Given the description of an element on the screen output the (x, y) to click on. 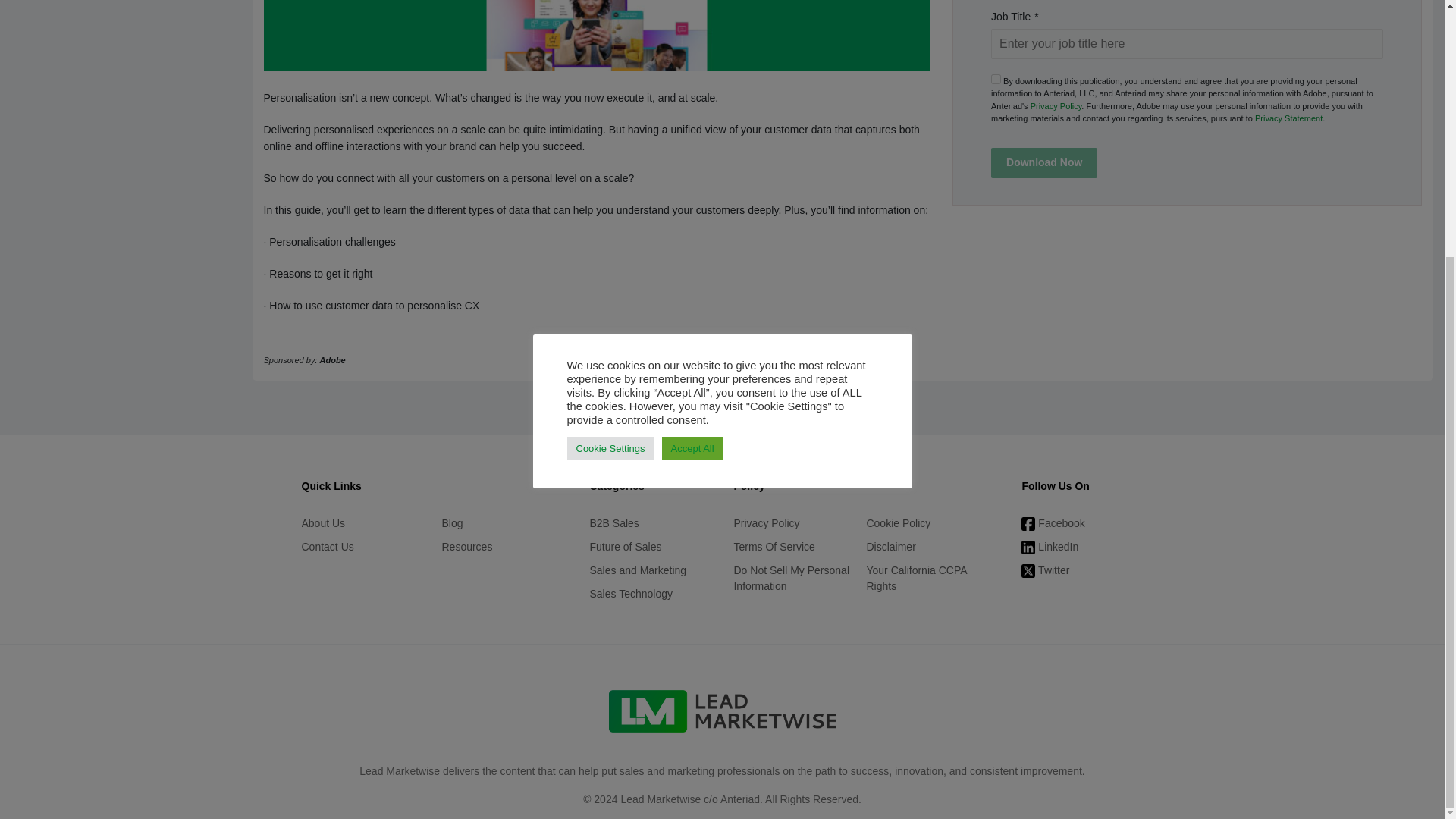
on (996, 79)
Blog (503, 523)
Terms Of Service (799, 546)
About Us (363, 523)
Privacy Policy (1055, 105)
B2B Sales (649, 523)
Resources (503, 546)
Enter your job title here (1187, 43)
Twitter (1082, 570)
Facebook (1082, 523)
Cookie Policy (932, 523)
Sales and Marketing (649, 570)
Sales Technology (649, 594)
Linkedin (1082, 546)
Future of Sales (649, 546)
